Given the description of an element on the screen output the (x, y) to click on. 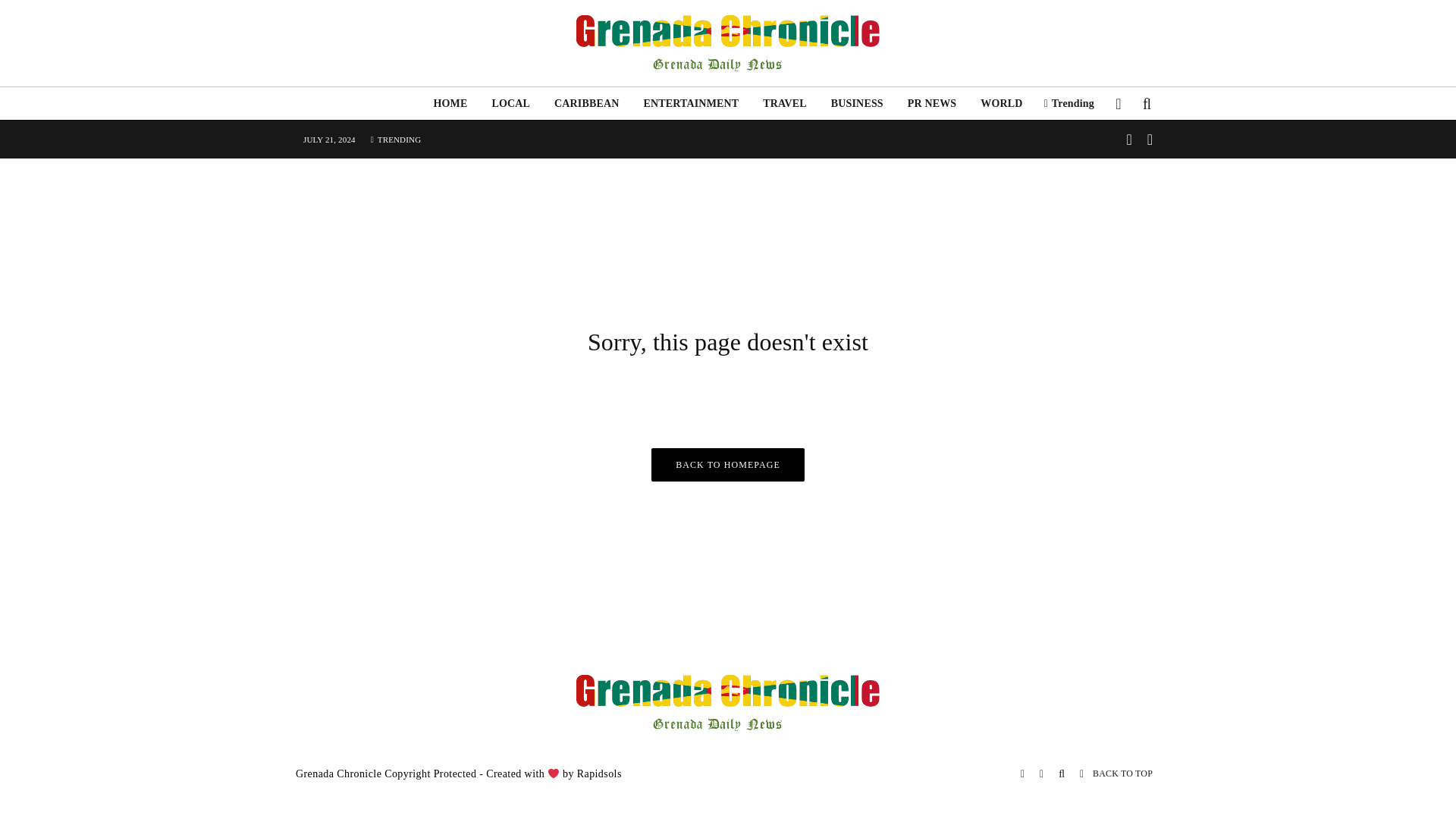
CARIBBEAN (585, 102)
LOCAL (510, 102)
TRAVEL (784, 102)
HOME (449, 102)
ENTERTAINMENT (690, 102)
